Given the description of an element on the screen output the (x, y) to click on. 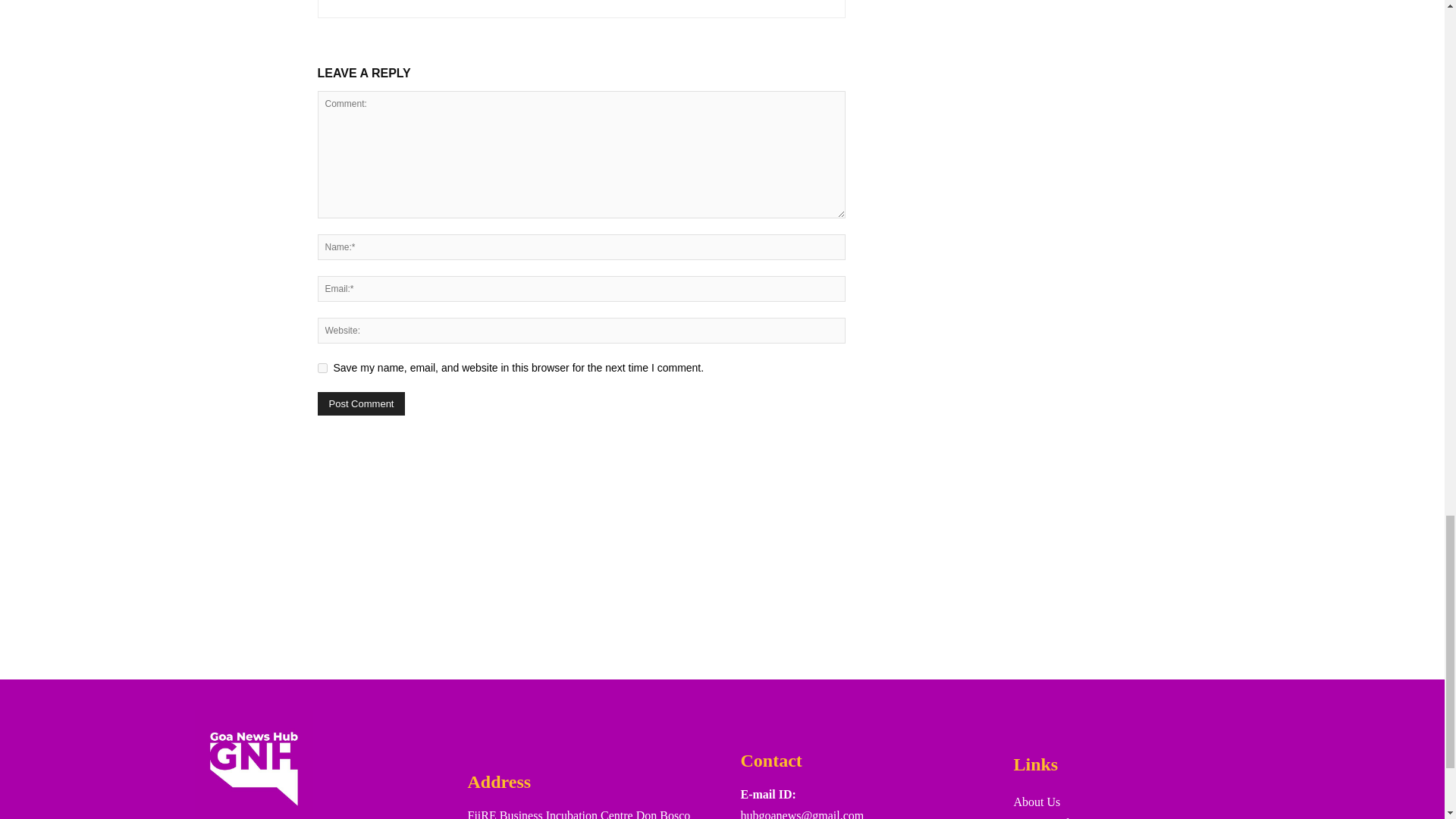
Post Comment (360, 403)
yes (321, 368)
